Given the description of an element on the screen output the (x, y) to click on. 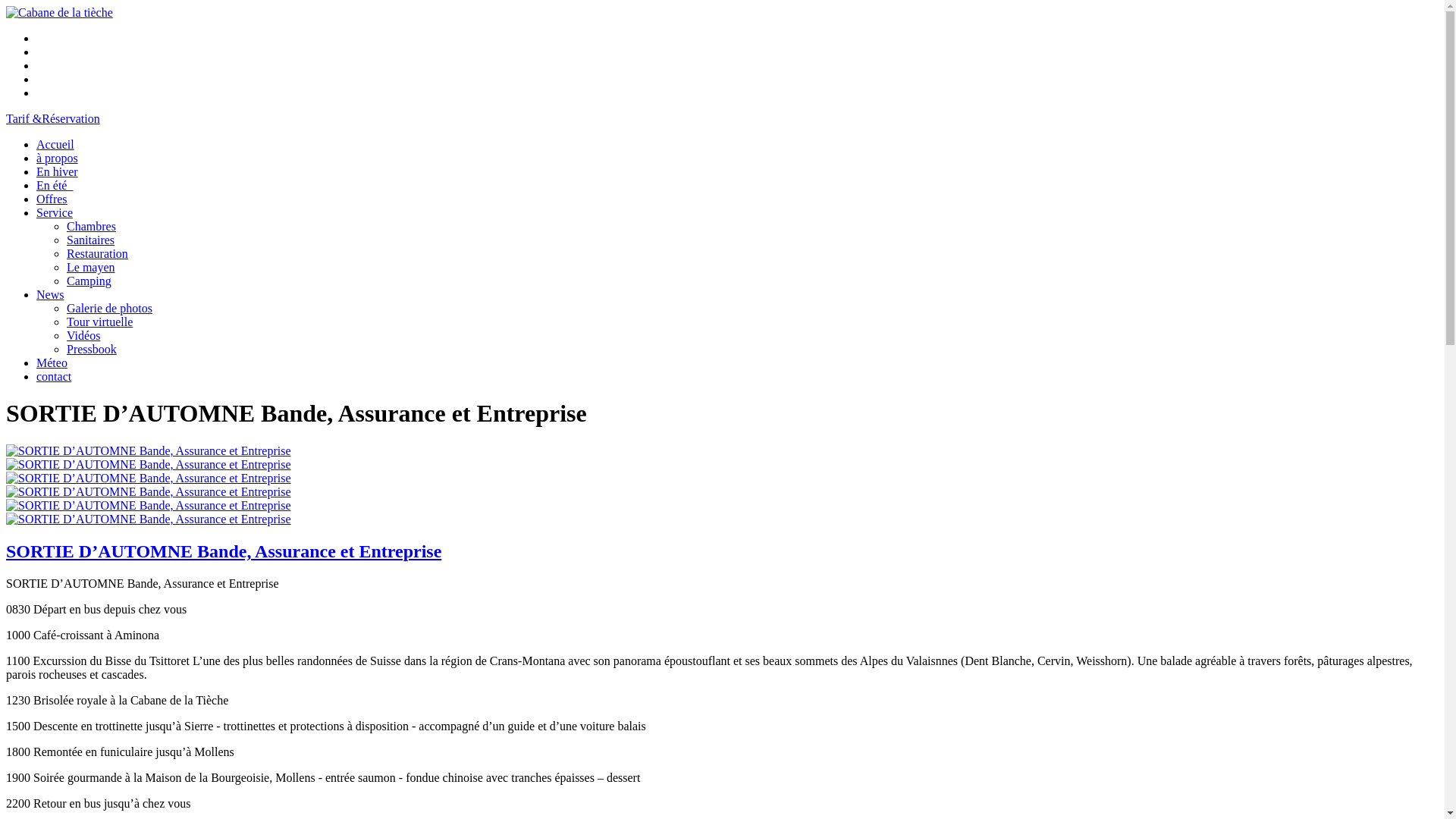
Restauration Element type: text (97, 253)
Service Element type: text (54, 212)
Sanitaires Element type: text (90, 239)
Accueil Element type: text (55, 144)
Tour virtuelle Element type: text (99, 321)
Chambres Element type: text (91, 225)
Camping Element type: text (88, 280)
News Element type: text (49, 294)
Pressbook Element type: text (91, 348)
En hiver Element type: text (57, 171)
Galerie de photos Element type: text (109, 307)
contact Element type: text (53, 376)
Offres Element type: text (51, 198)
Le mayen Element type: text (90, 266)
